Given the description of an element on the screen output the (x, y) to click on. 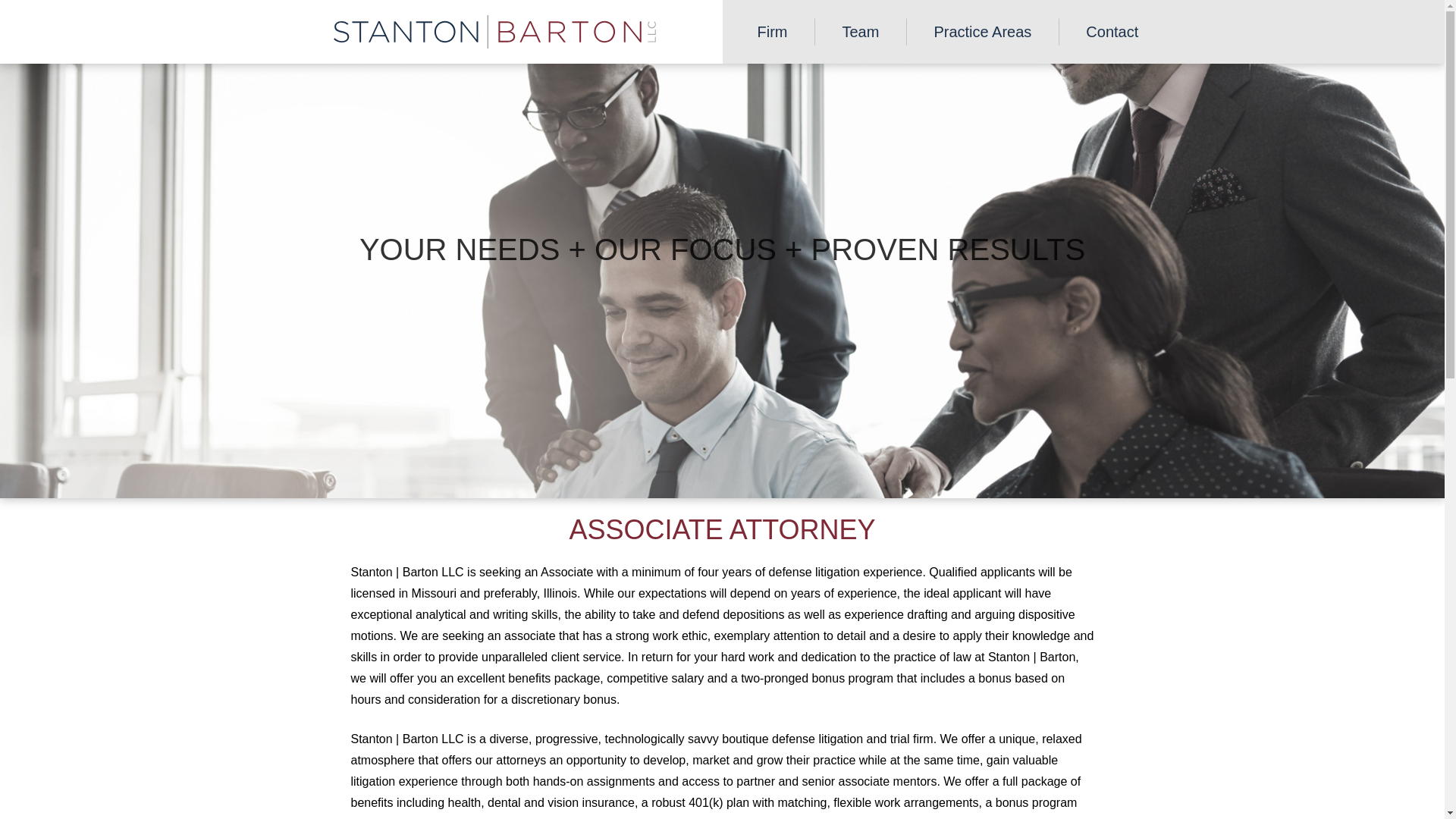
Contact (1111, 37)
Firm (771, 37)
Practice Areas (982, 37)
Team (860, 37)
Stanton Baron LLC Homepage (494, 31)
